Given the description of an element on the screen output the (x, y) to click on. 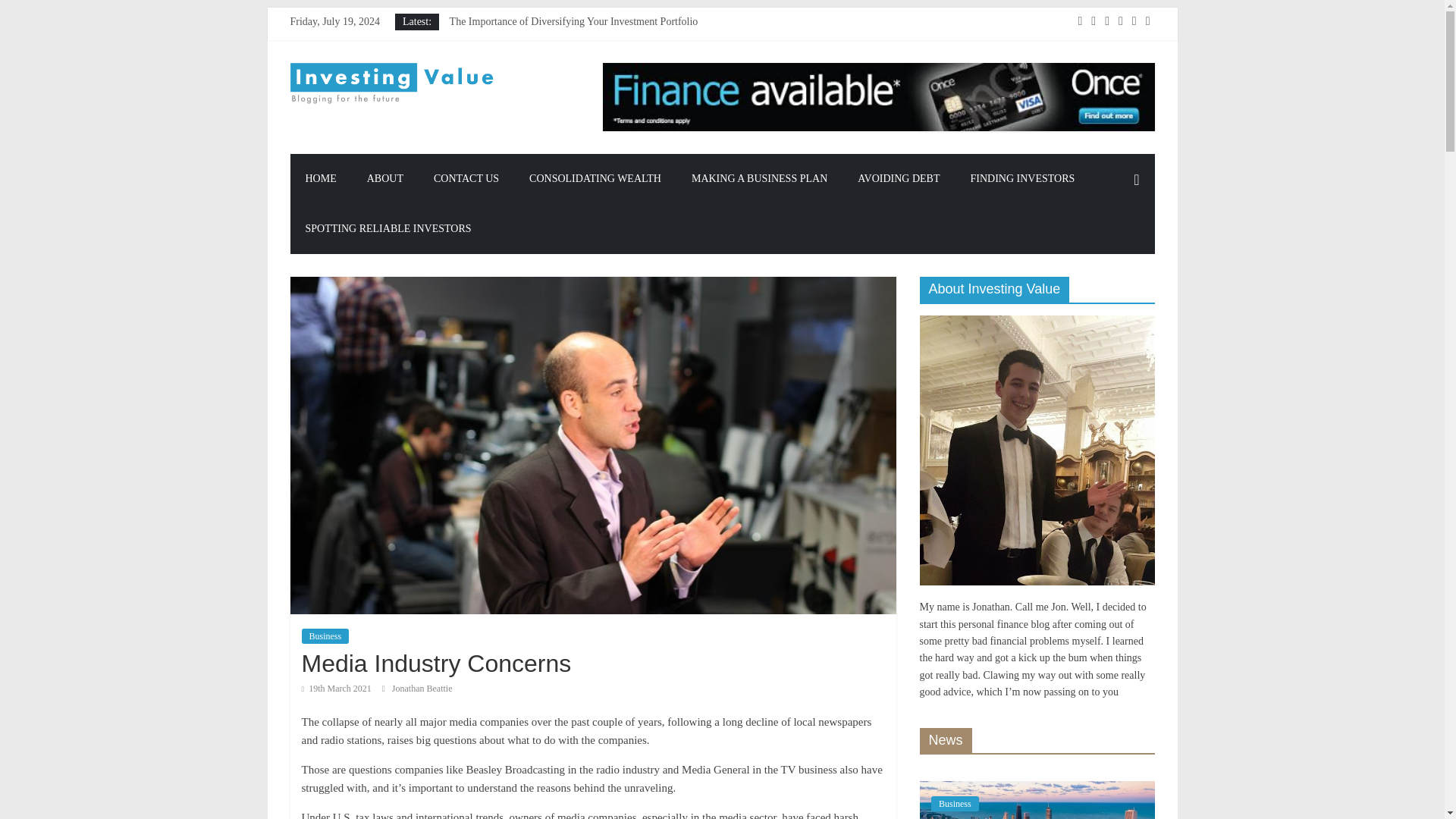
Navigating Job Loss: Strategies for Bouncing Back Stronger (577, 71)
ABOUT (385, 178)
AVOIDING DEBT (899, 178)
The Importance of Diversifying Your Investment Portfolio (573, 21)
1:38 pm (336, 688)
Business (325, 635)
CONTACT US (466, 178)
Jonathan Beattie (421, 688)
MAKING A BUSINESS PLAN (760, 178)
SPOTTING RELIABLE INVESTORS (387, 228)
Understanding the Basics of Business Finance (547, 38)
Understanding the Basics of Business Finance (547, 38)
19th March 2021 (336, 688)
